Given the description of an element on the screen output the (x, y) to click on. 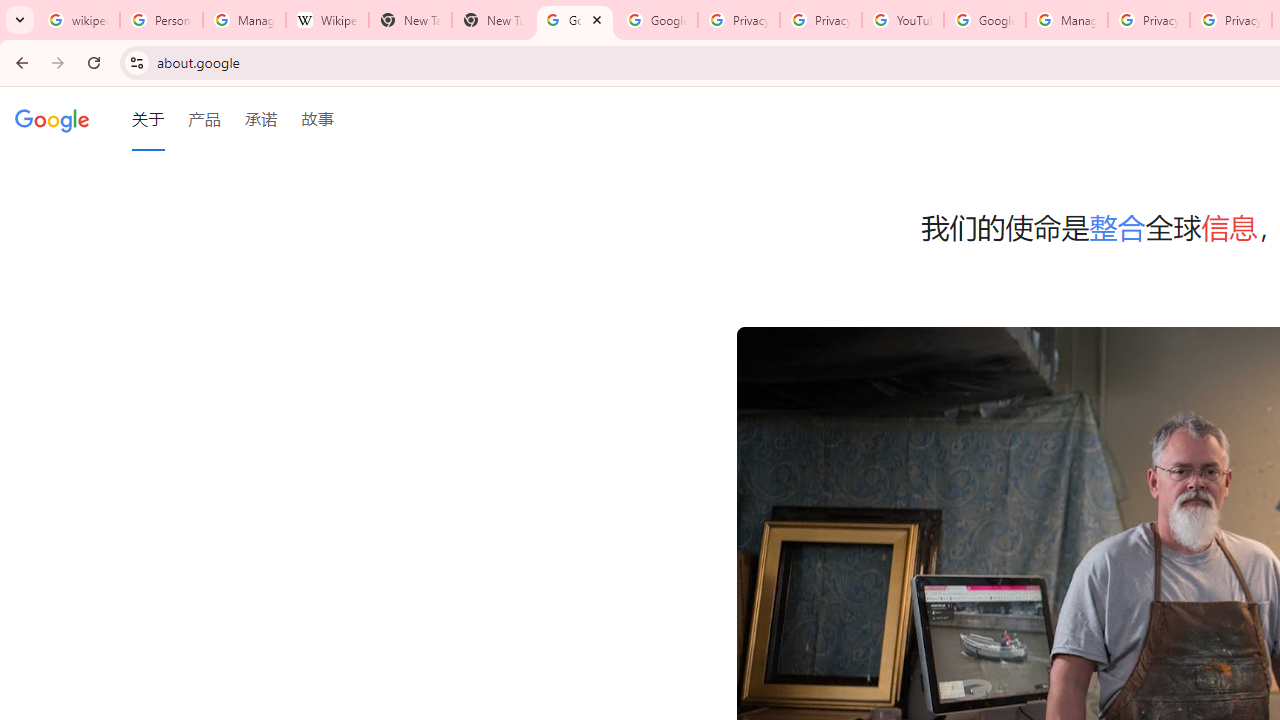
Manage your Location History - Google Search Help (244, 20)
Wikipedia:Edit requests - Wikipedia (326, 20)
New Tab (492, 20)
Google (52, 119)
YouTube (902, 20)
New Tab (409, 20)
